Given the description of an element on the screen output the (x, y) to click on. 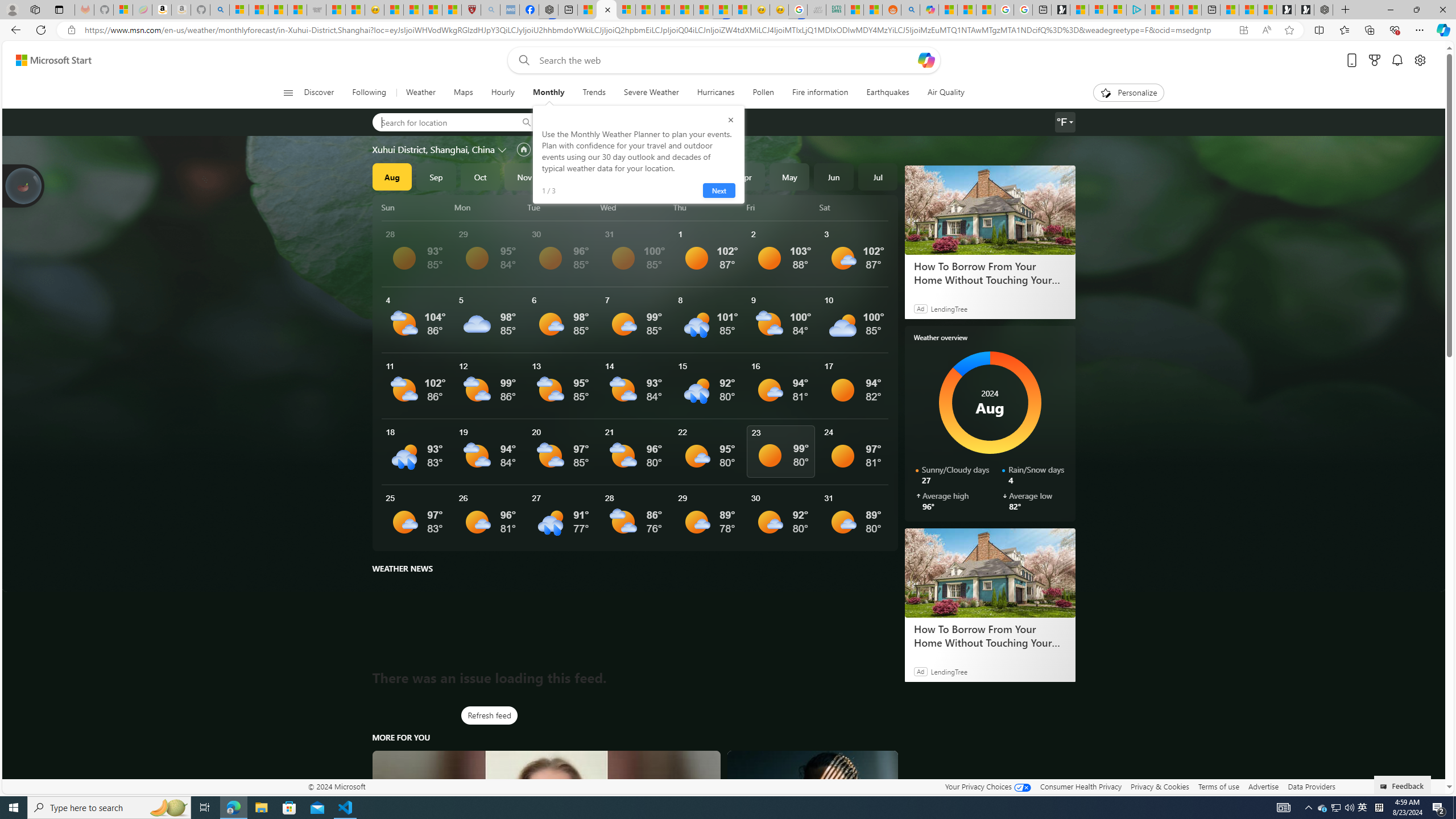
Change location (503, 149)
14 Common Myths Debunked By Scientific Facts (683, 9)
2025Jan (612, 176)
Mar (700, 176)
Class: button-glyph (287, 92)
